Given the description of an element on the screen output the (x, y) to click on. 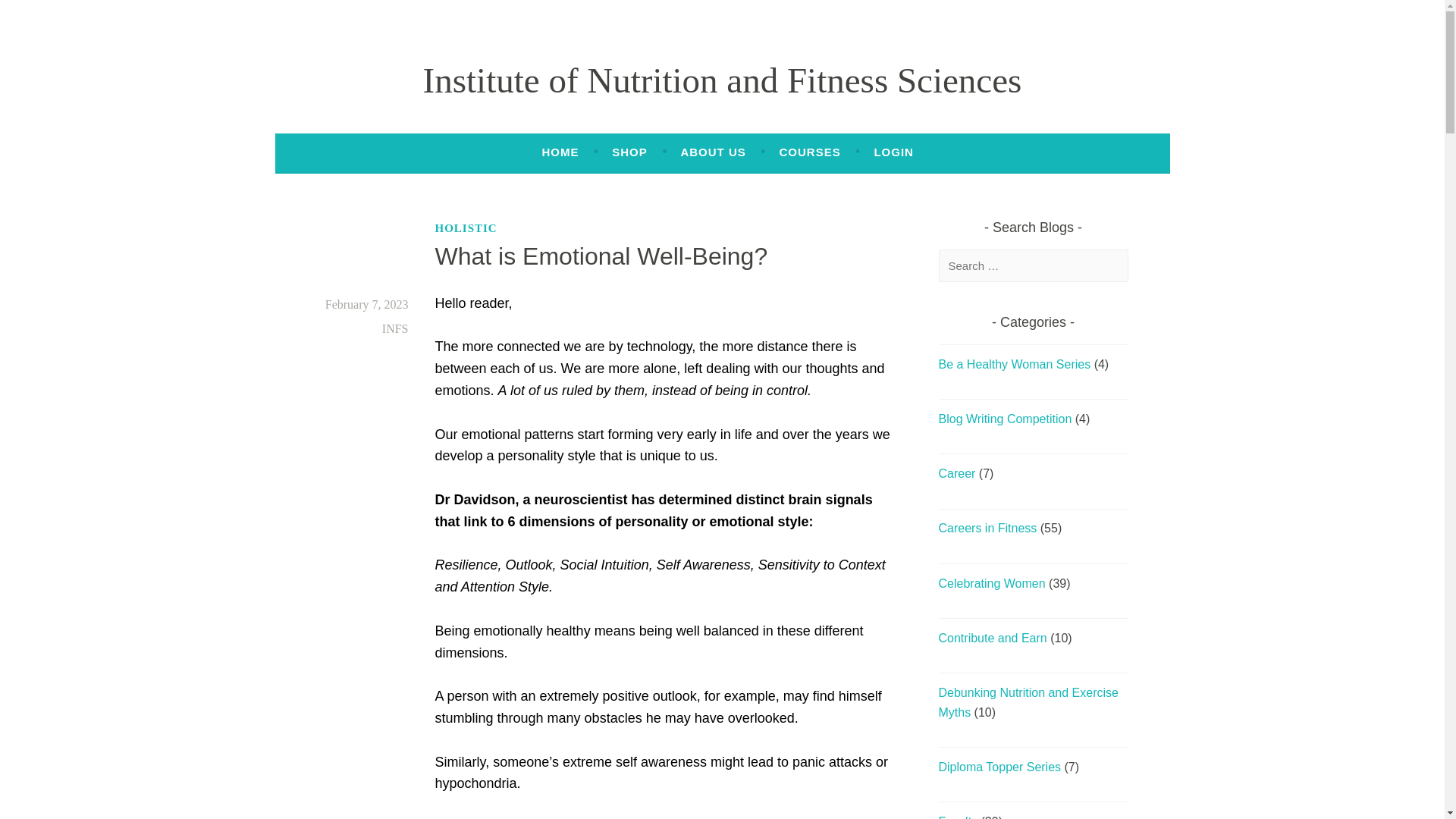
Celebrating Women (992, 583)
Careers in Fitness (987, 527)
Diploma Topper Series (1000, 766)
Be a Healthy Woman Series (1014, 364)
Contribute and Earn (992, 637)
Faculty (958, 816)
SHOP (629, 152)
Debunking Nutrition and Exercise Myths (1028, 702)
Institute of Nutrition and Fitness Sciences (722, 79)
LOGIN (893, 152)
